Given the description of an element on the screen output the (x, y) to click on. 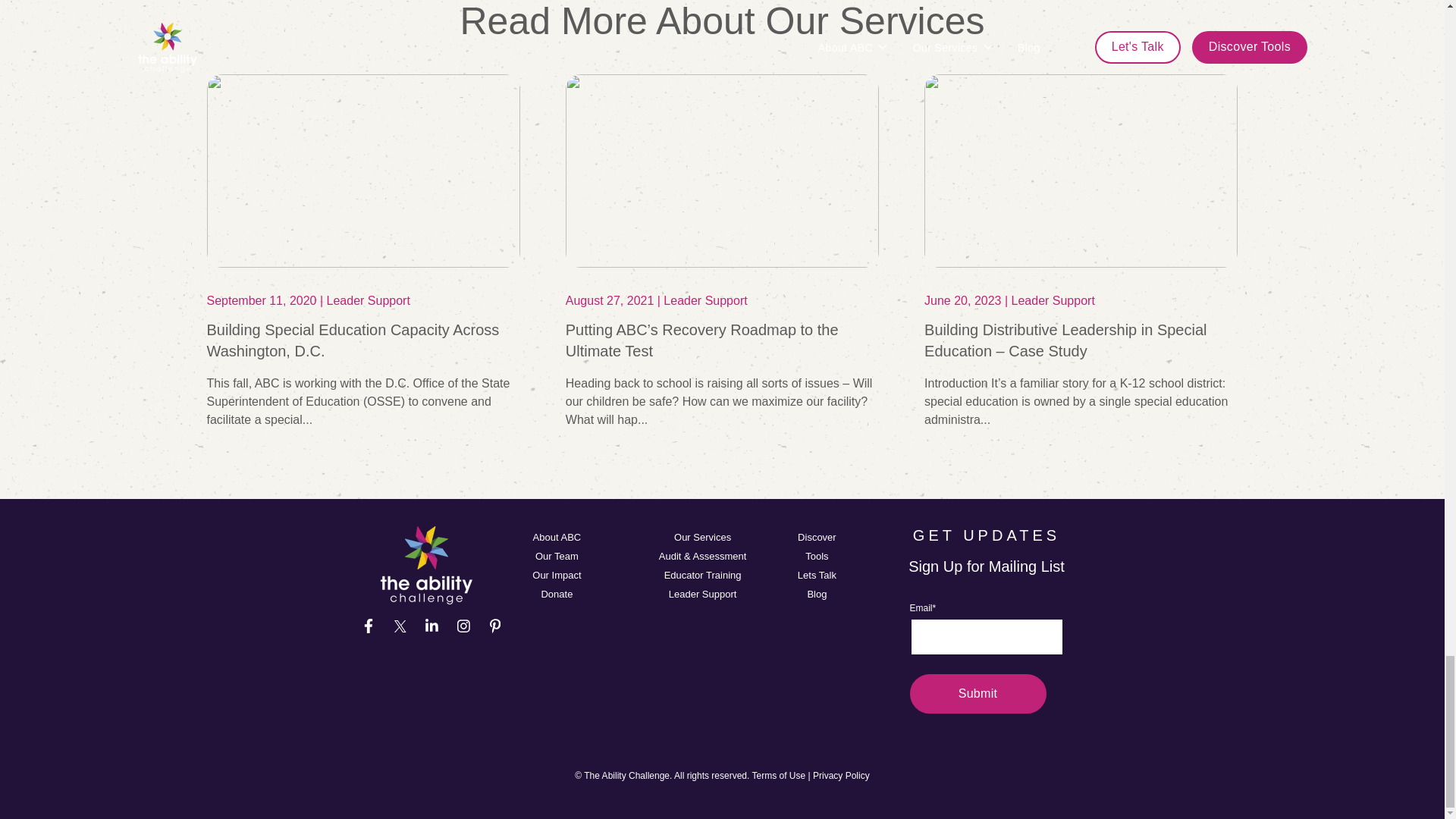
About ABC (556, 537)
Building Special Education Capacity Across Washington, D.C. (352, 340)
Submit (978, 694)
